Given the description of an element on the screen output the (x, y) to click on. 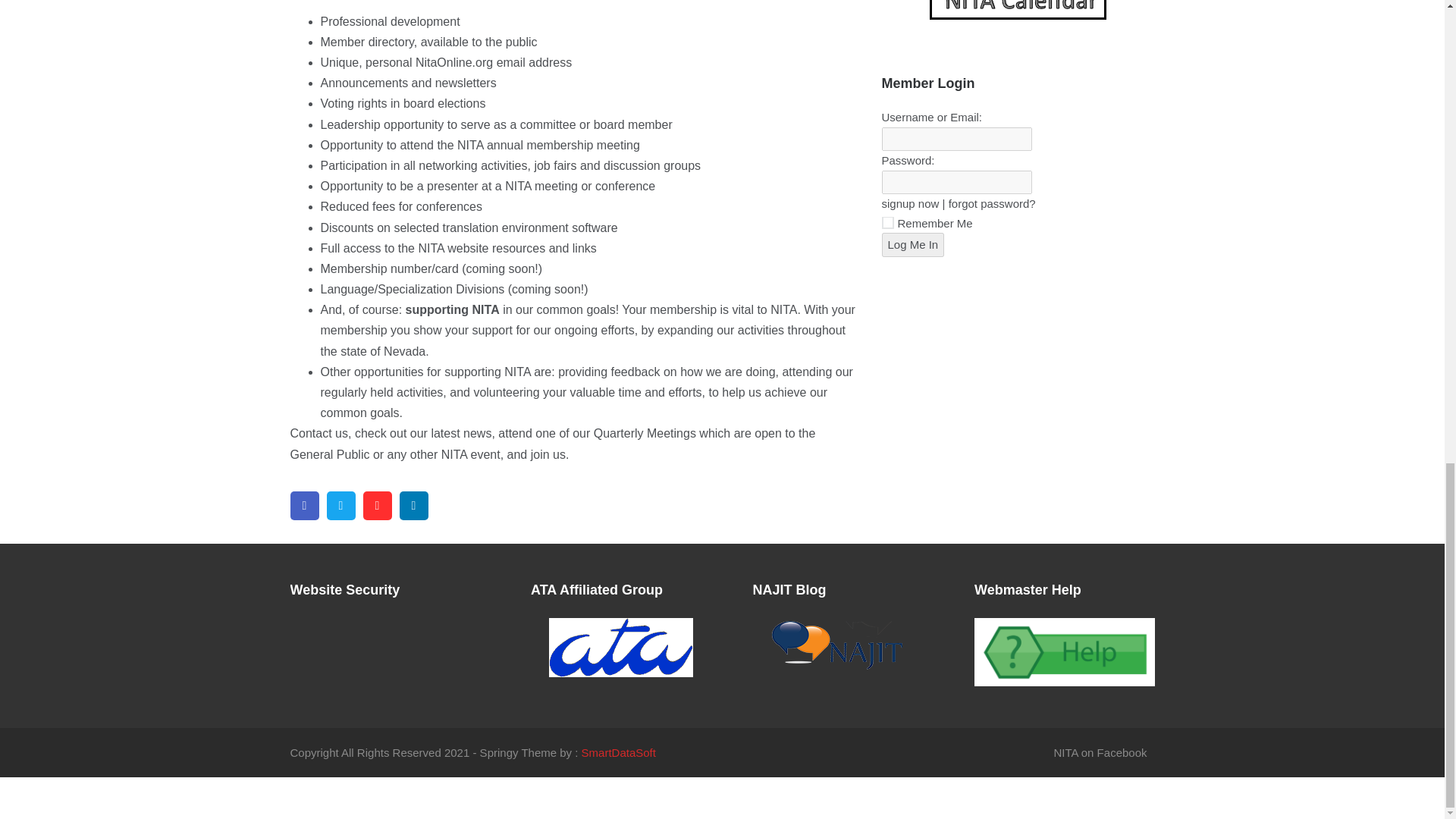
Contact us (318, 432)
NITA on Facebook (1099, 752)
Username (955, 139)
Password (955, 182)
Log Me In (911, 244)
Contact NITA (318, 432)
Log Me In (911, 244)
signup now (909, 203)
The Benefits of Being a Member of NITA (548, 454)
forever (886, 223)
join us (548, 454)
forgot password? (992, 203)
providing feedback (608, 371)
